Given the description of an element on the screen output the (x, y) to click on. 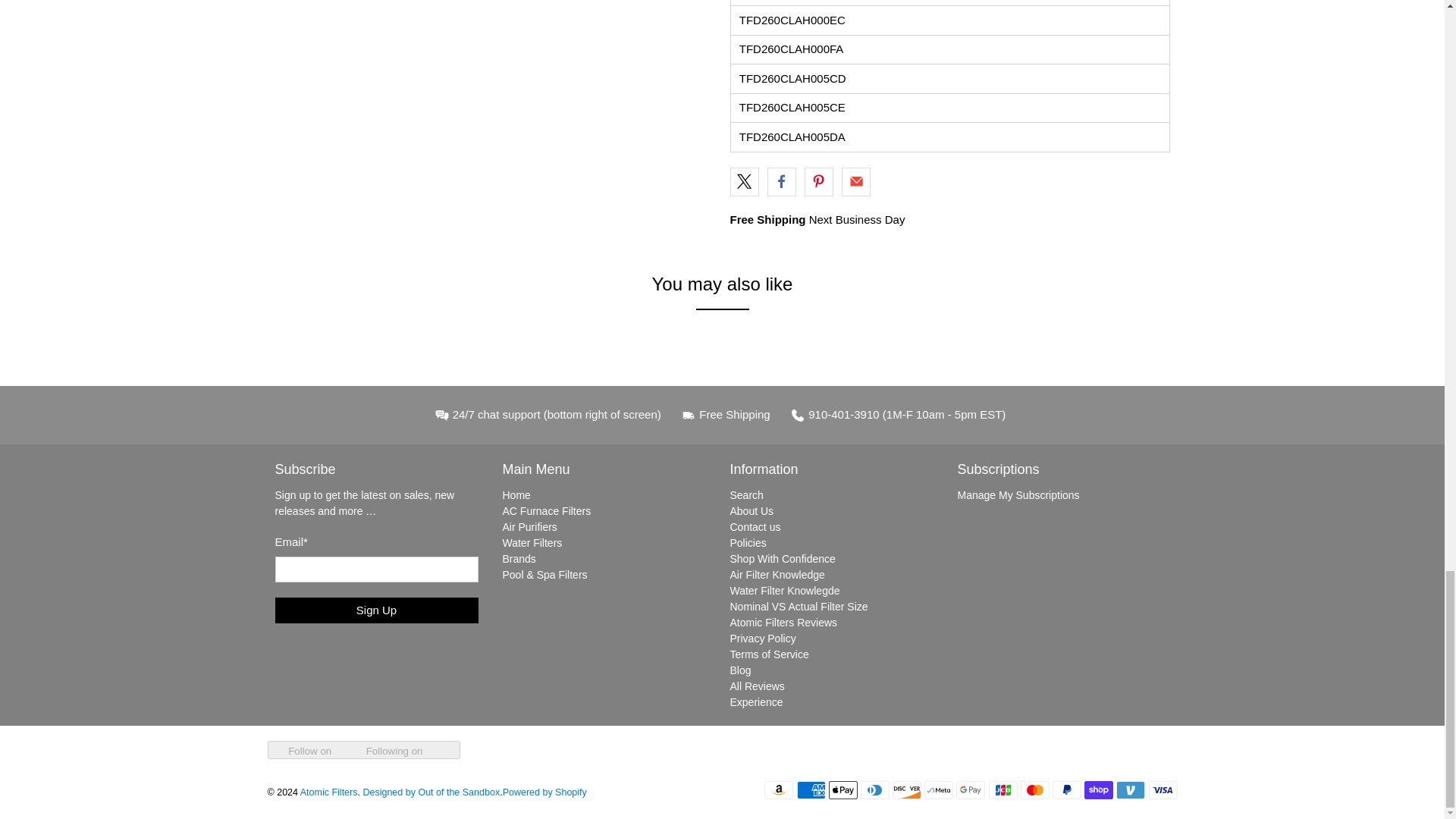
Share this on Pinterest (818, 181)
Meta Pay (938, 790)
Email this to a friend (855, 181)
JCB (1002, 790)
American Express (810, 790)
Diners Club (874, 790)
Flex Shopify Theme by Out of the Sandbox (430, 792)
Share this on X (743, 181)
Apple Pay (842, 790)
Amazon (778, 790)
Share this on Facebook (781, 181)
Discover (906, 790)
Google Pay (970, 790)
